Given the description of an element on the screen output the (x, y) to click on. 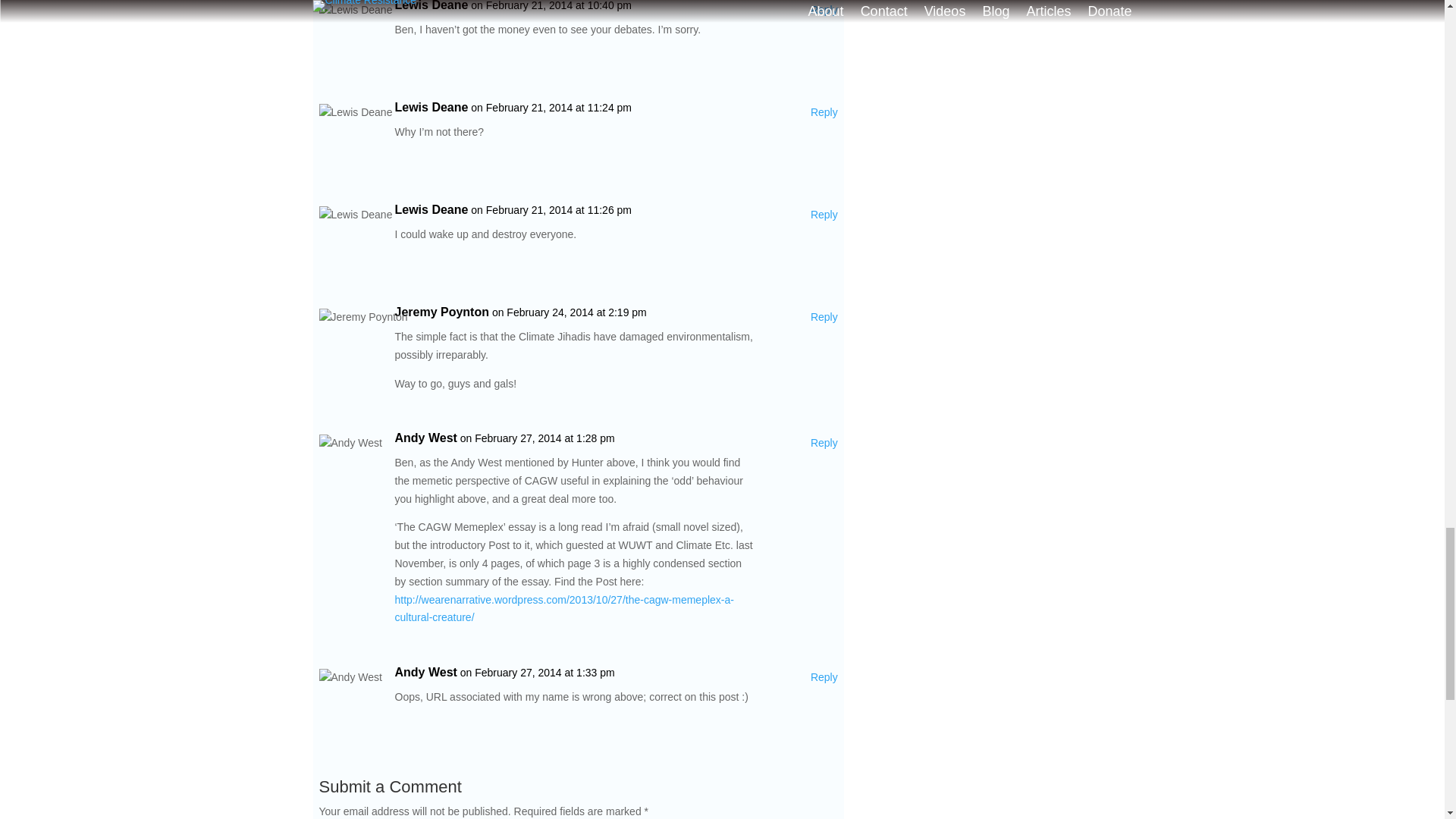
Reply (824, 443)
Andy West (425, 672)
Reply (824, 215)
Reply (824, 678)
Andy West (425, 438)
Jeremy Poynton (440, 312)
Reply (824, 10)
Reply (824, 317)
Reply (824, 113)
